Given the description of an element on the screen output the (x, y) to click on. 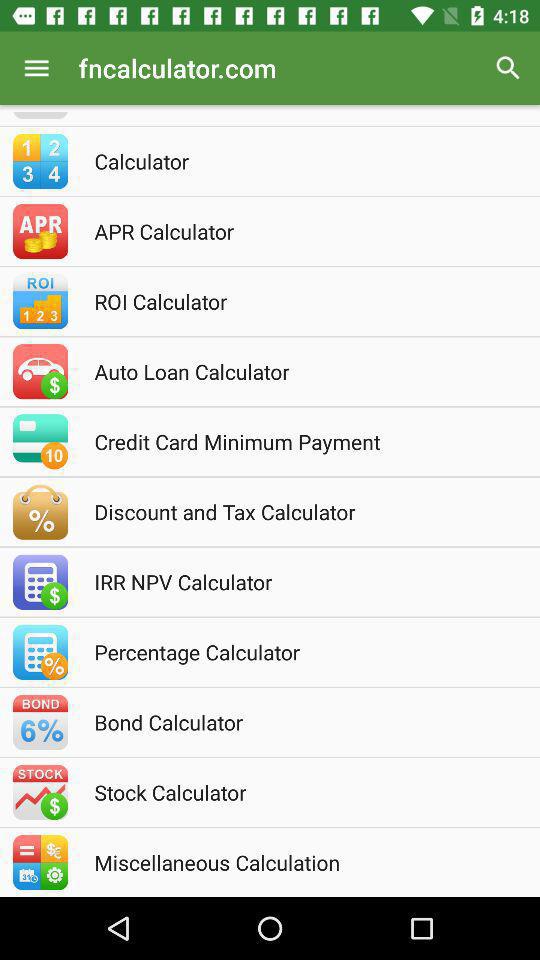
turn off the miscellaneous calculation icon (297, 862)
